Given the description of an element on the screen output the (x, y) to click on. 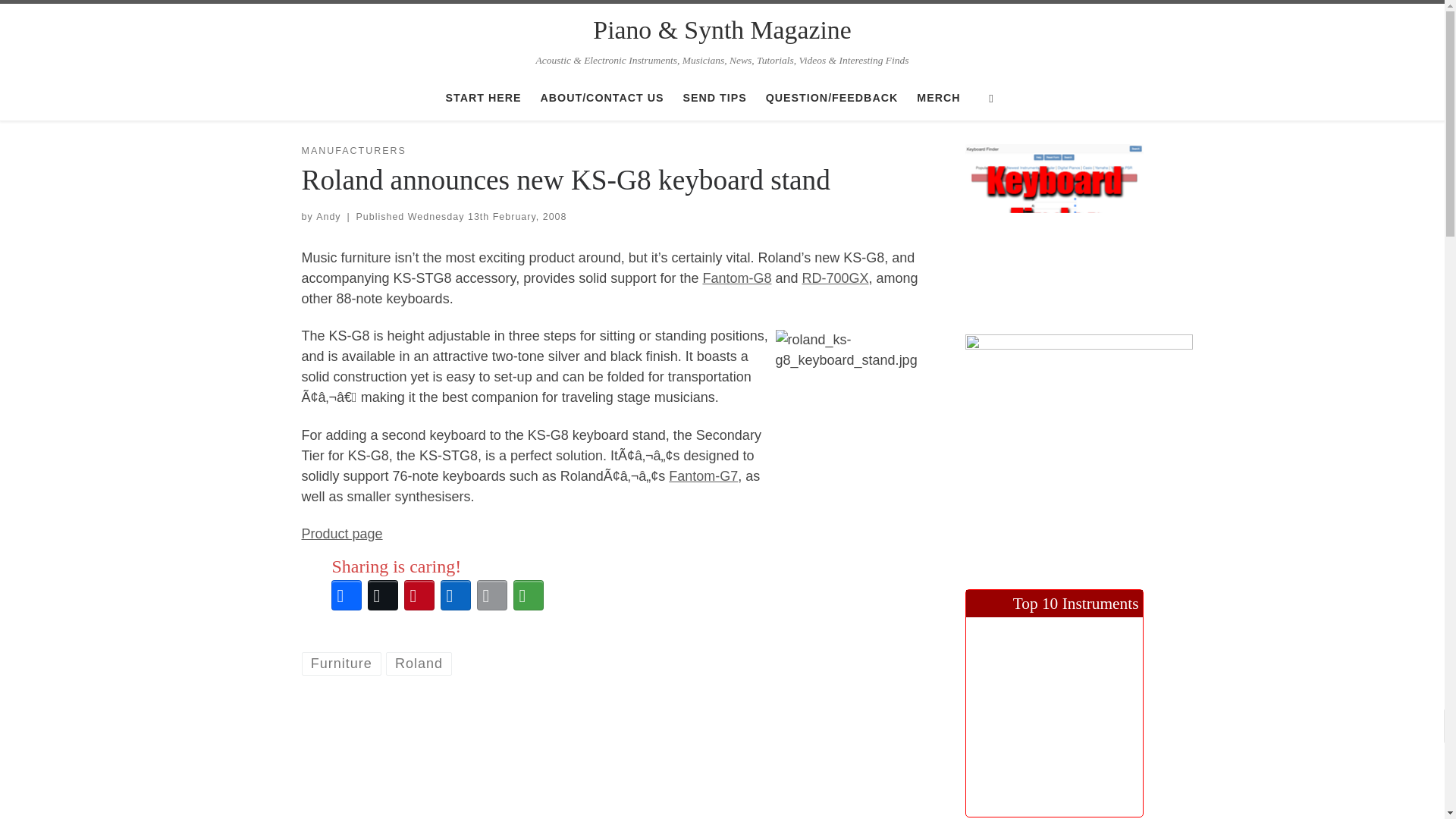
More Options (527, 595)
View all posts in Furniture (341, 663)
MERCH (938, 97)
4:37 pm (487, 216)
Andy (327, 216)
View all posts in Manufacturers (353, 151)
RD-700GX (835, 278)
Fantom-G7 (703, 476)
START HERE (483, 97)
Wednesday 13th February, 2008 (487, 216)
Pinterest (418, 595)
Facebook (345, 595)
Roland (418, 663)
View all posts by Andy (327, 216)
Product page (341, 533)
